Given the description of an element on the screen output the (x, y) to click on. 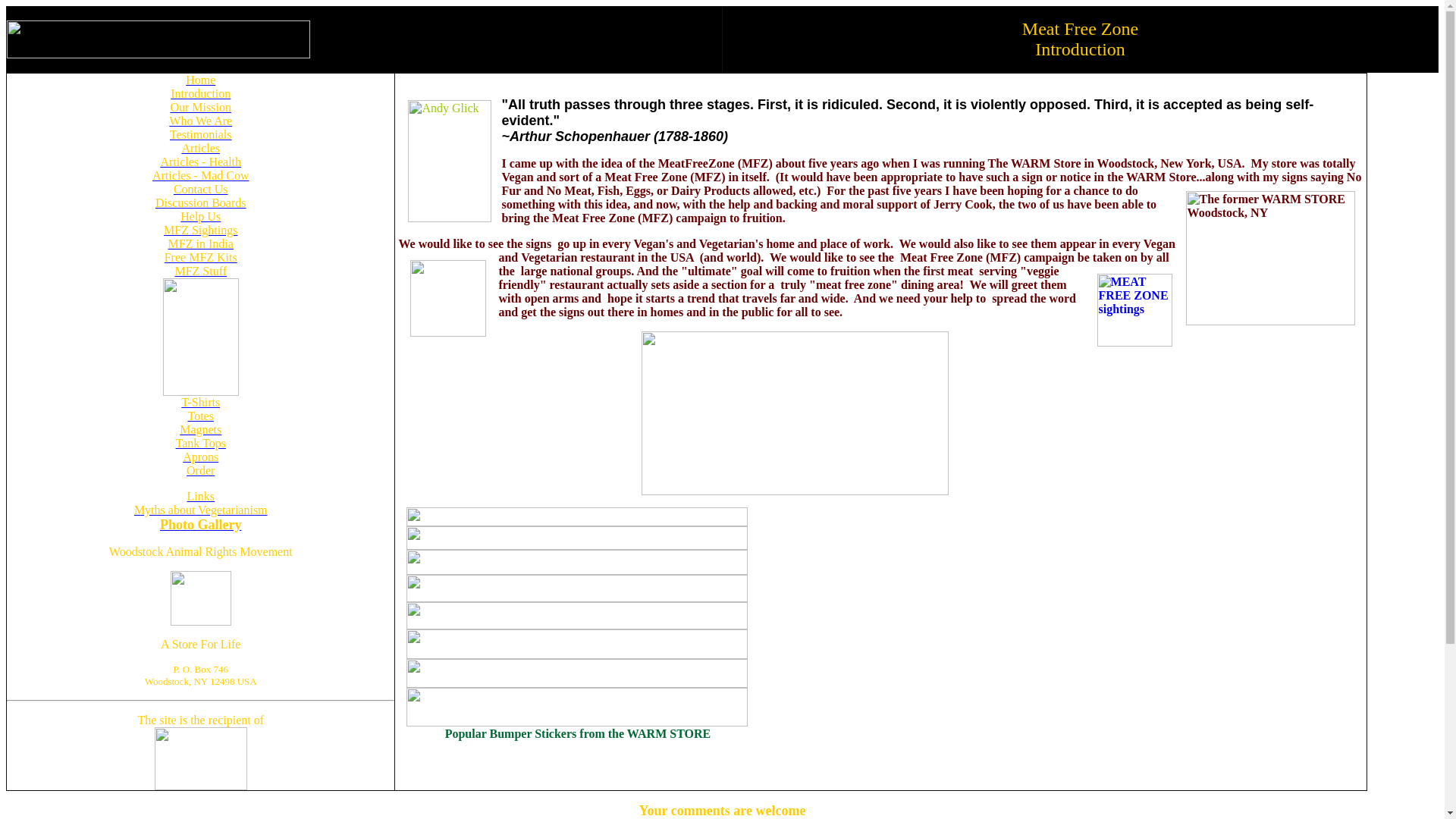
Testimonials (200, 133)
Links (200, 495)
Aprons (200, 456)
Discussion Boards (200, 202)
Magnets (200, 429)
Articles - Mad Cow (200, 174)
Photo Gallery (200, 524)
MFZ Stuff (200, 270)
Introduction (200, 92)
Articles (199, 147)
